Given the description of an element on the screen output the (x, y) to click on. 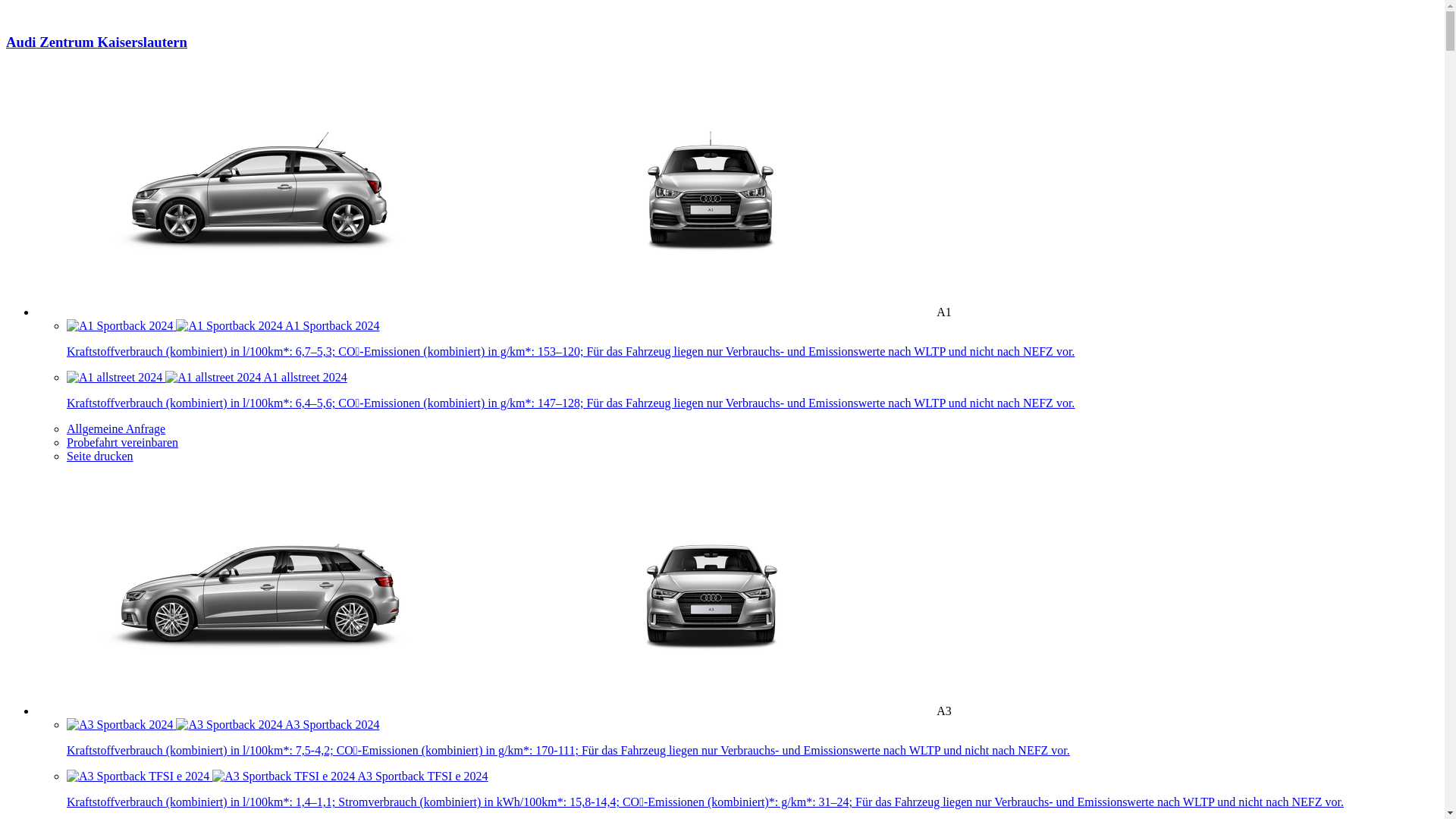
Audi Zentrum Kaiserslautern Element type: text (722, 56)
Seite drucken Element type: text (99, 455)
A3 Element type: text (493, 710)
Allgemeine Anfrage Element type: text (115, 428)
A1 Element type: text (493, 311)
Probefahrt vereinbaren Element type: text (122, 442)
